Given the description of an element on the screen output the (x, y) to click on. 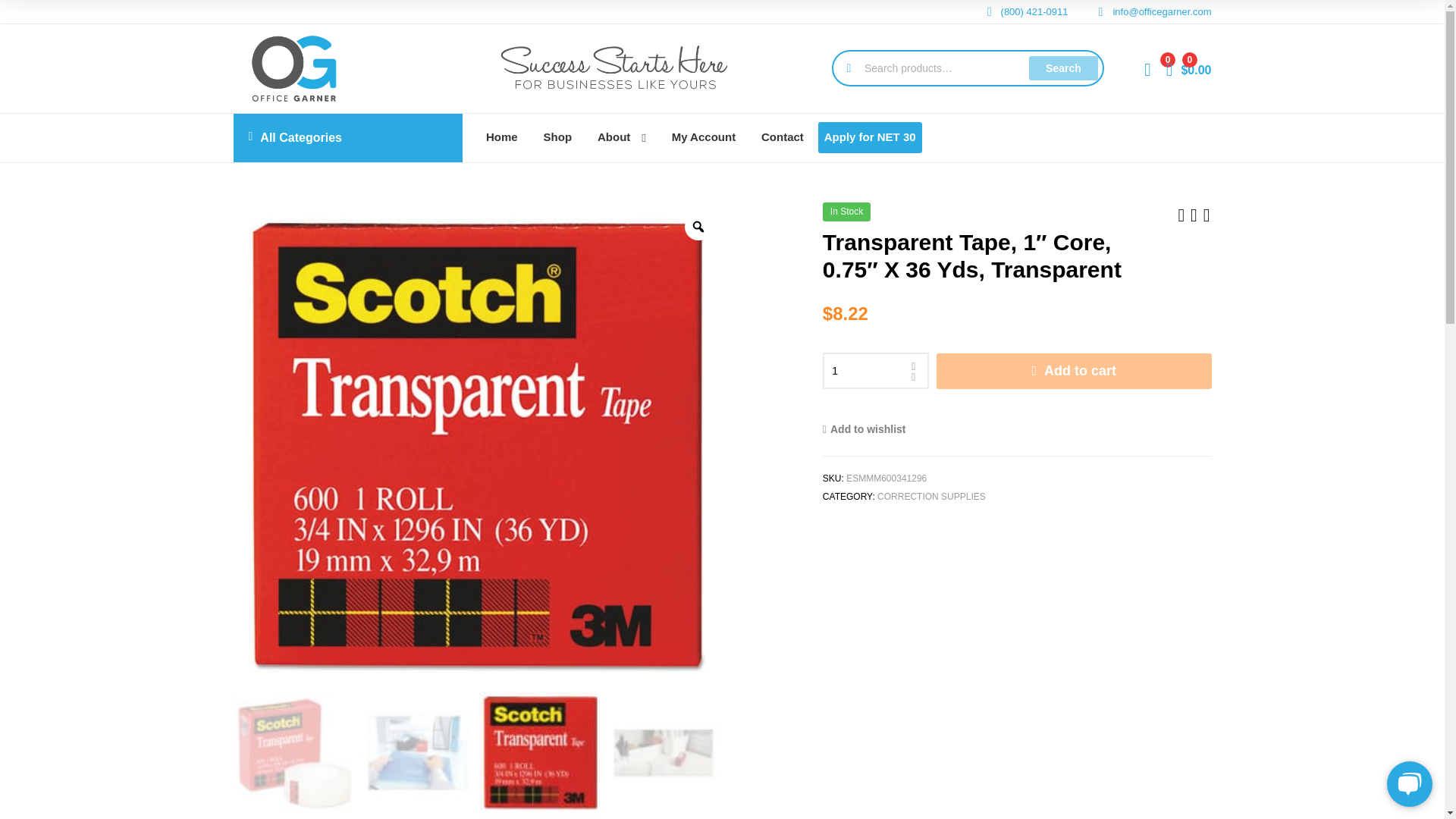
Apply for NET 30 (869, 137)
About (622, 137)
Shop (557, 137)
Search (1063, 68)
Home (501, 137)
My Account (703, 137)
0 (1147, 68)
View your shopping cart (1188, 68)
Contact (782, 137)
1 (875, 370)
